Given the description of an element on the screen output the (x, y) to click on. 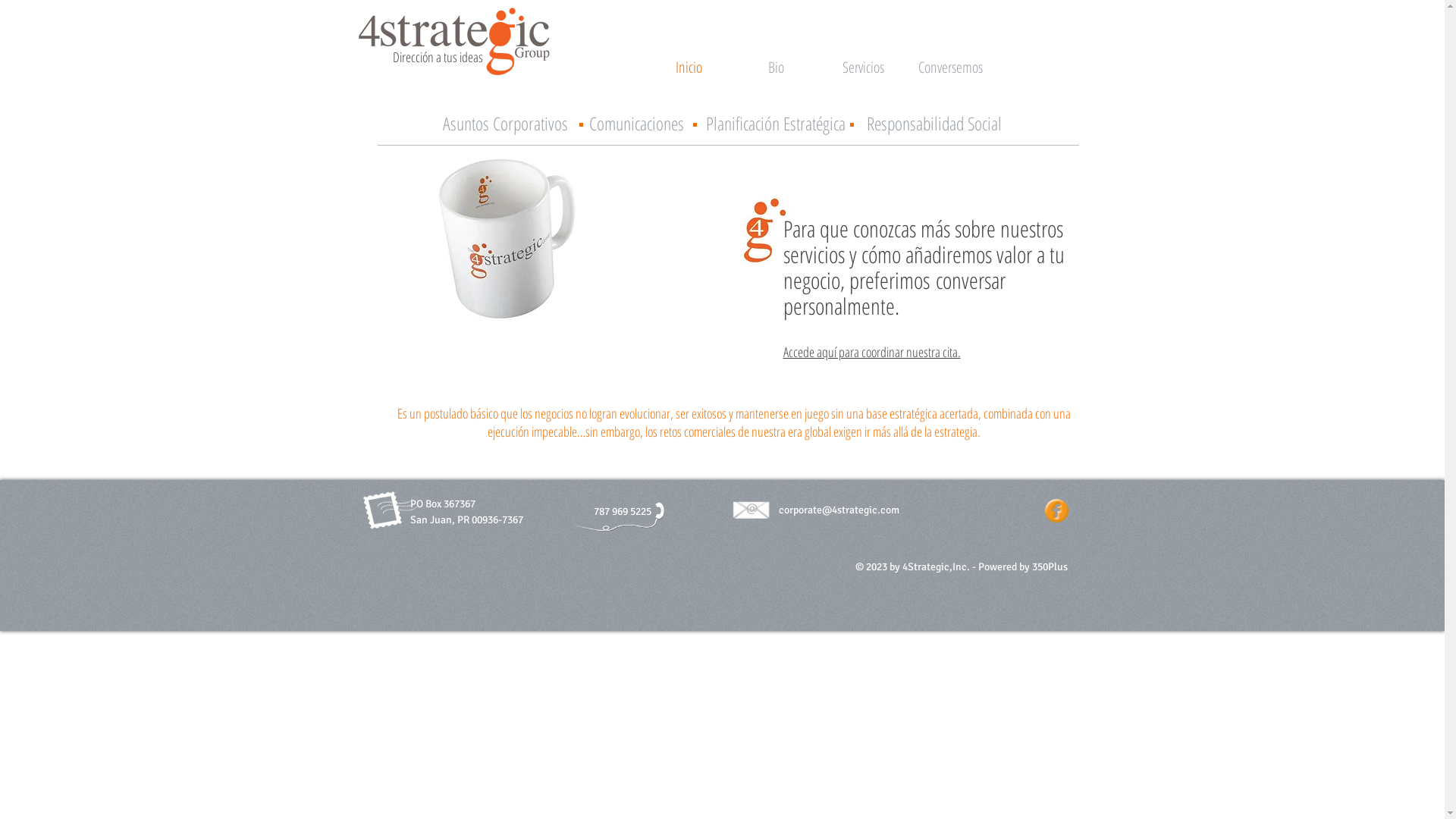
Bio Element type: text (775, 67)
Conversemos Element type: text (950, 67)
350Plus Element type: text (1048, 566)
Servicios Element type: text (862, 67)
corporate@4strategic.com Element type: text (838, 507)
icono solo.jpg Element type: hover (764, 229)
Inicio Element type: text (687, 67)
